Given the description of an element on the screen output the (x, y) to click on. 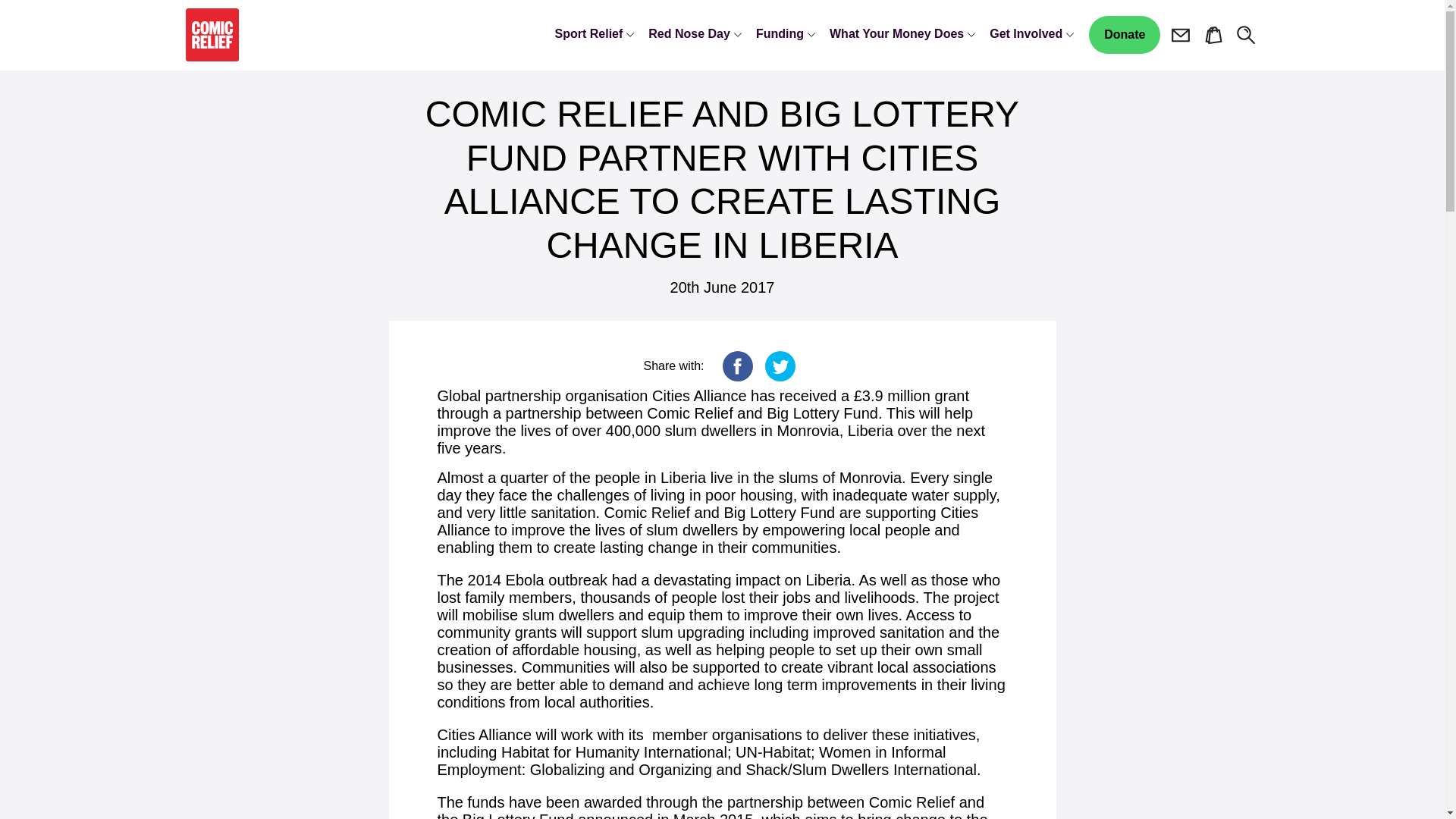
Shop (1212, 35)
Funding (785, 34)
Go to Comic Relief homepage (211, 34)
Sign up for emails (1179, 35)
Sport Relief (594, 34)
What Your Money Does (902, 34)
Go to Comic Relief homepage (211, 34)
Get Involved (1032, 34)
Search (1246, 35)
Share on Twitter (779, 367)
